Given the description of an element on the screen output the (x, y) to click on. 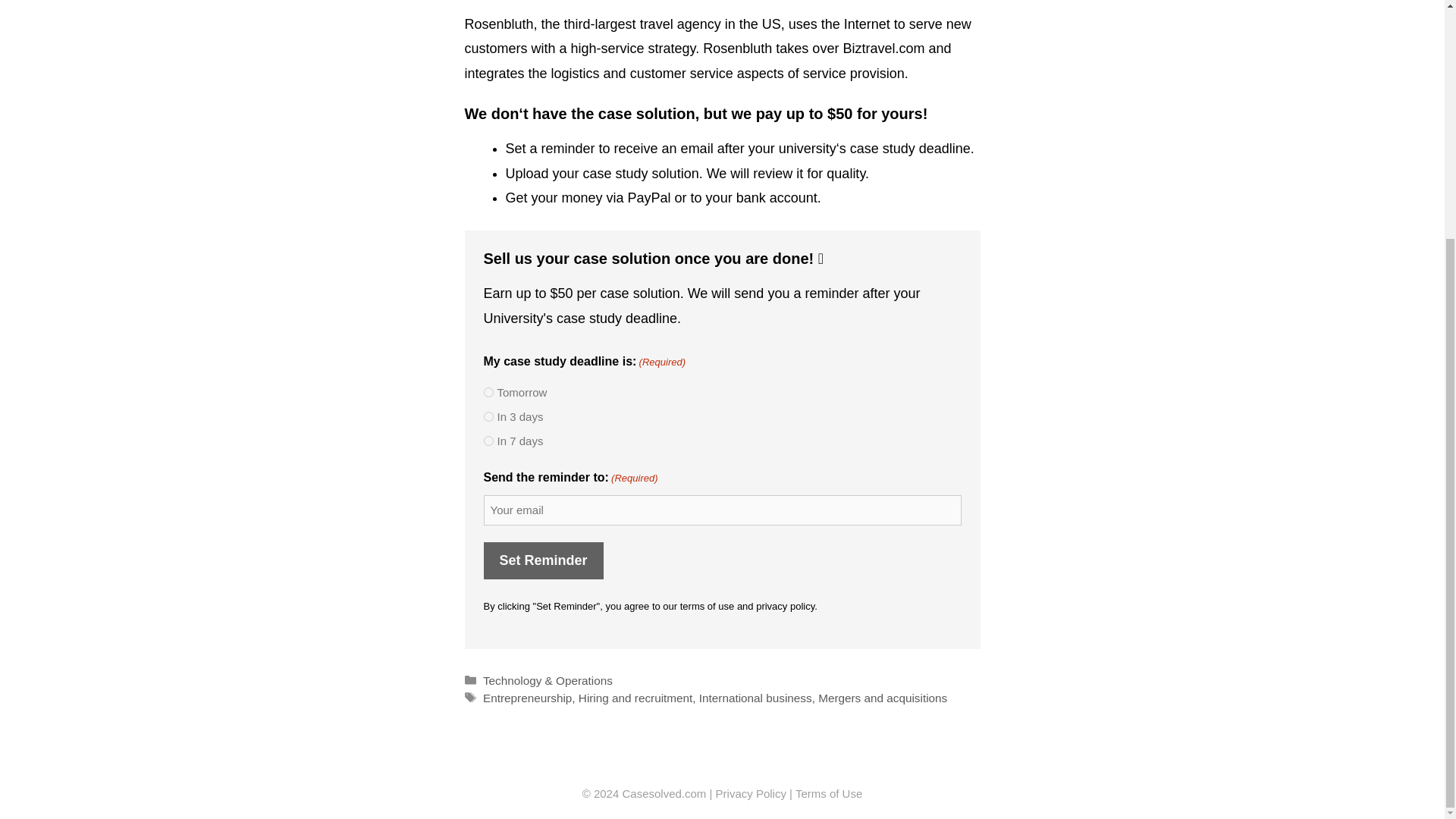
7 (488, 440)
Terms of Use (827, 793)
Mergers and acquisitions (882, 697)
1 (488, 392)
International business (755, 697)
3 (488, 416)
Privacy Policy (751, 793)
Set Reminder (543, 560)
Hiring and recruitment (635, 697)
Set Reminder (543, 560)
Entrepreneurship (527, 697)
